Given the description of an element on the screen output the (x, y) to click on. 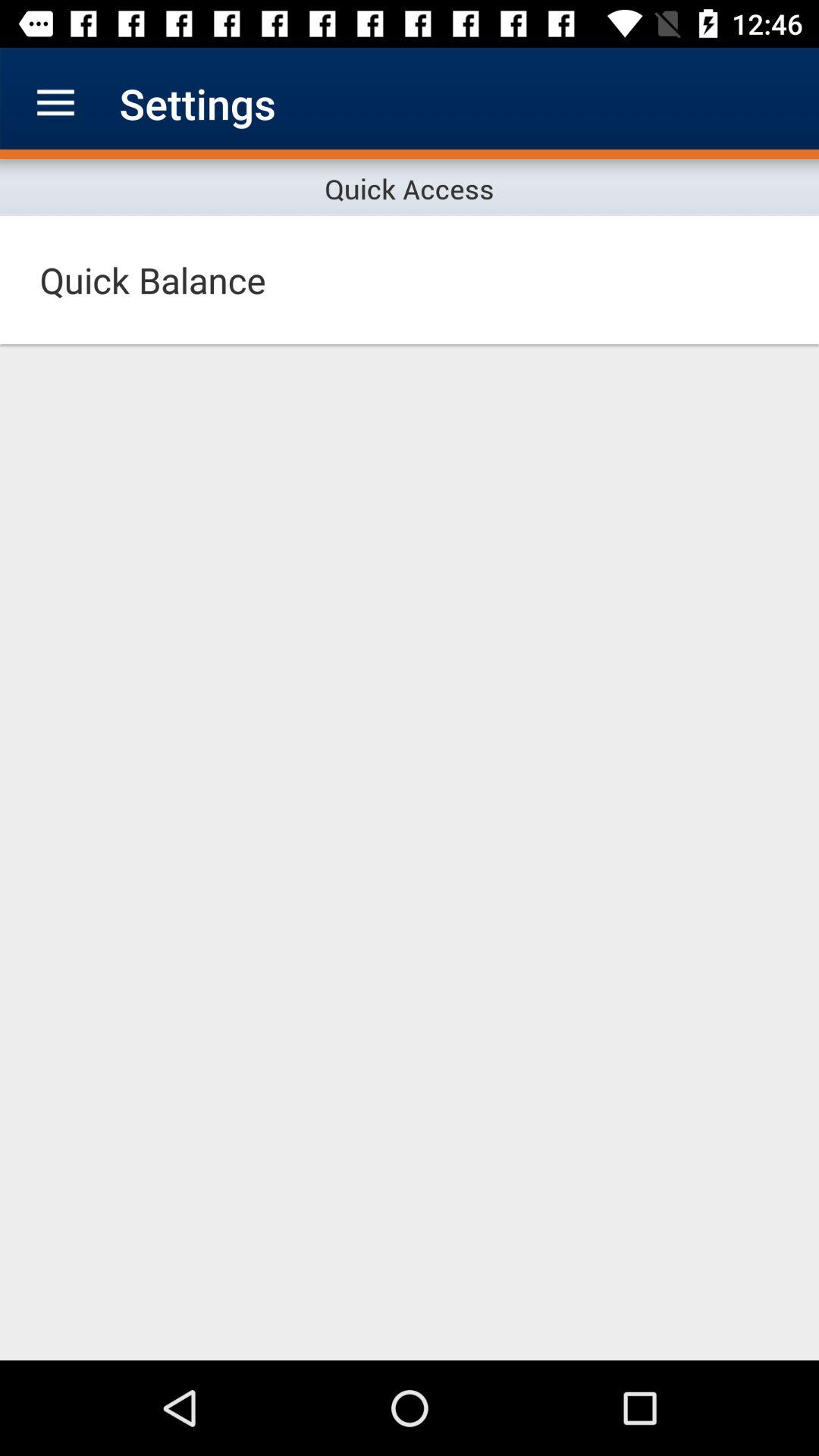
tap icon to the left of the settings app (55, 103)
